Given the description of an element on the screen output the (x, y) to click on. 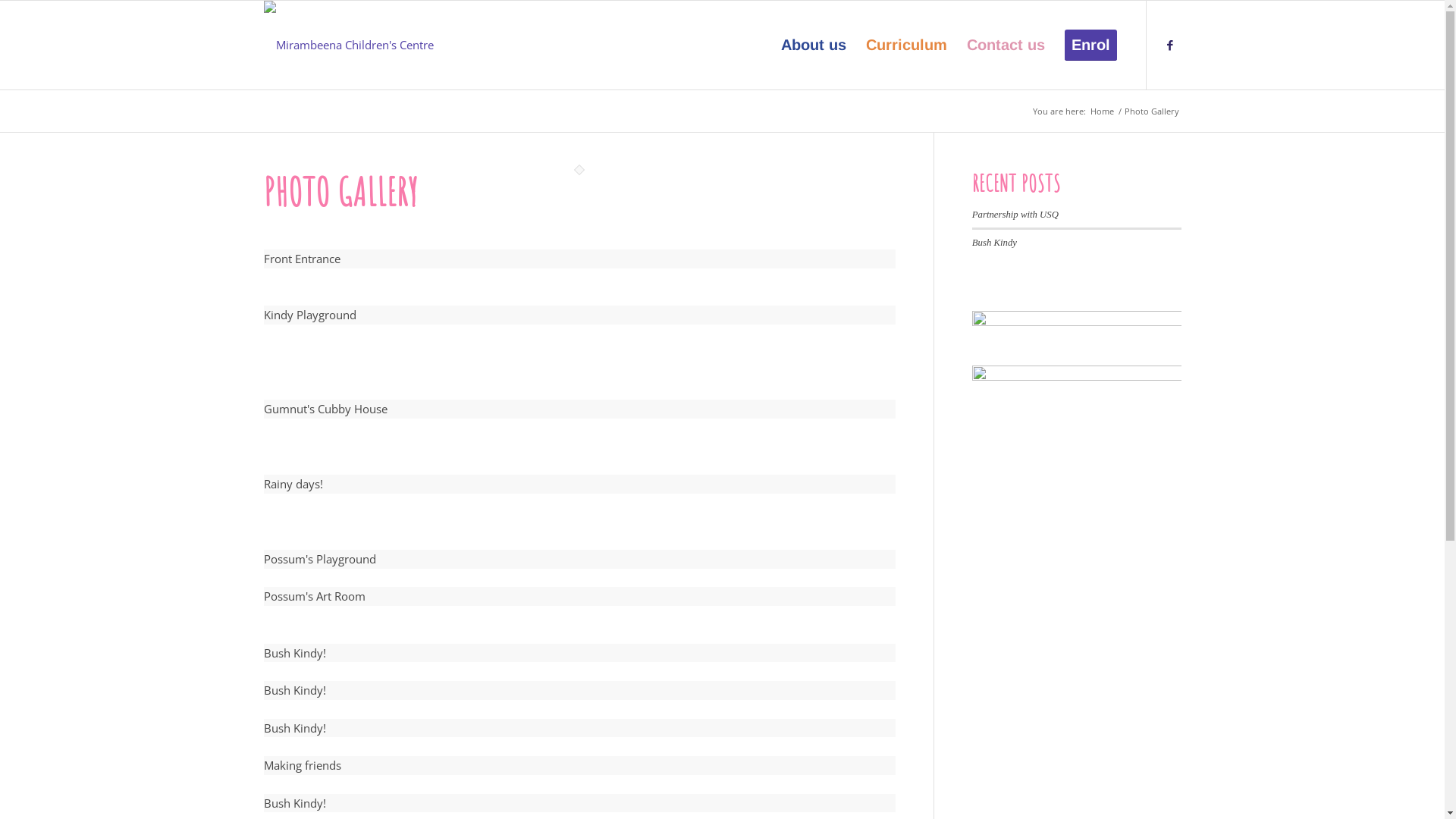
Enrol Element type: text (1090, 44)
Bush Kindy Element type: text (994, 242)
Possum's Art Room Element type: text (579, 587)
Bush Kindy! Element type: text (579, 793)
Gumnut's Cubby House Element type: text (579, 399)
Making friends Element type: text (579, 756)
Possum's Playground Element type: text (579, 549)
Rainy days! Element type: text (579, 474)
Facebook Element type: hover (1169, 44)
Contact us Element type: text (1005, 44)
Bush Kindy! Element type: text (579, 680)
Kindy Playground Element type: text (579, 305)
Front Entrance Element type: text (579, 249)
Partnership with USQ Element type: text (1015, 214)
Curriculum Element type: text (905, 44)
Bush Kindy! Element type: text (579, 718)
About us Element type: text (812, 44)
Bush Kindy! Element type: text (579, 643)
Home Element type: text (1101, 110)
